Given the description of an element on the screen output the (x, y) to click on. 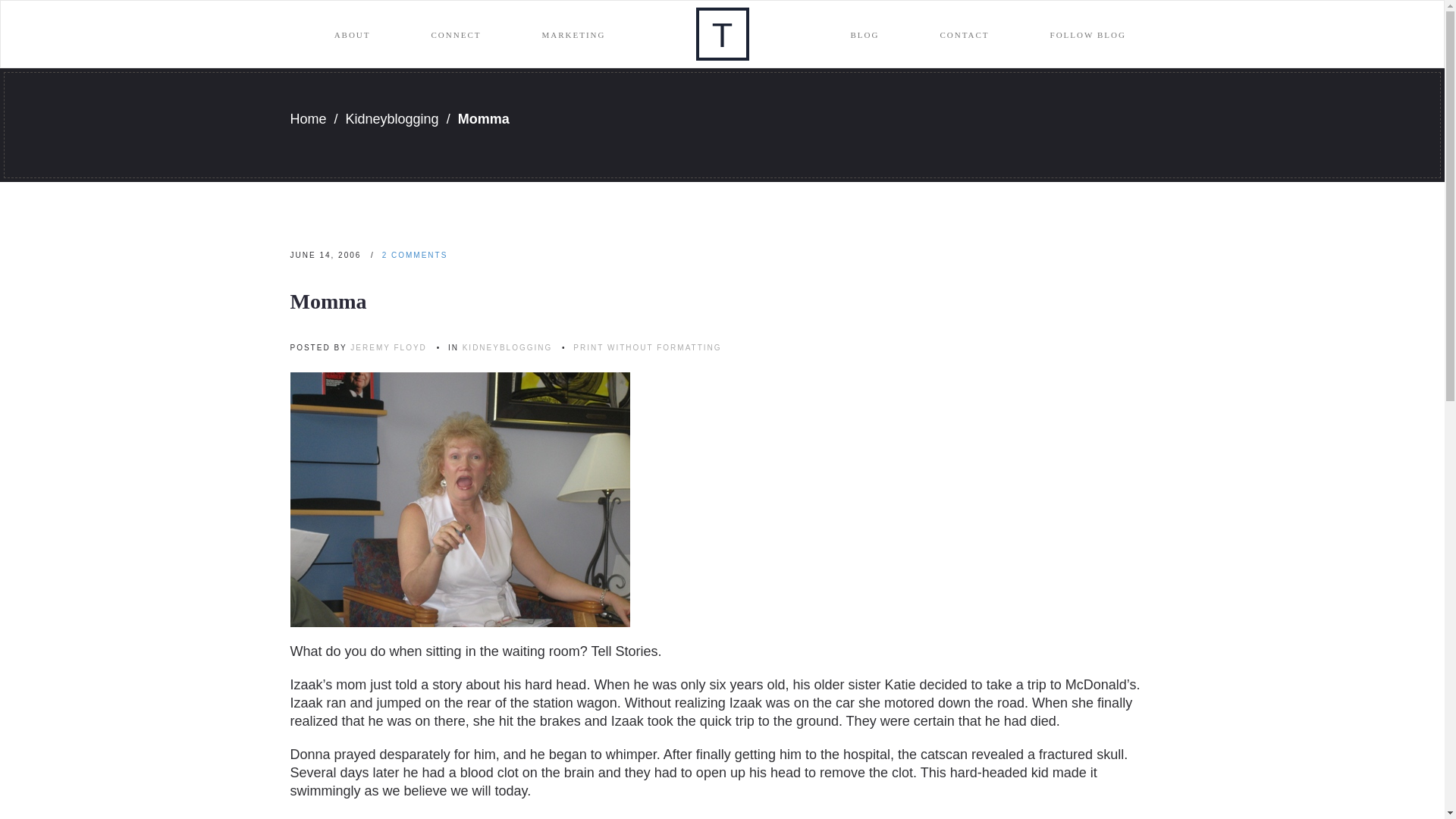
MARKETING (572, 34)
2 COMMENTS (414, 254)
CONTACT (964, 34)
T (722, 33)
CONTACT (964, 34)
Posts by Jeremy Floyd (388, 347)
BLOG (865, 34)
Momma (327, 300)
PRINT WITHOUT FORMATTING (646, 348)
Kidneyblogging (392, 118)
JEREMY FLOYD (388, 347)
MARKETING (572, 34)
ABOUT (352, 34)
Print Without Formatting (646, 348)
FOLLOW BLOG (1088, 34)
